Given the description of an element on the screen output the (x, y) to click on. 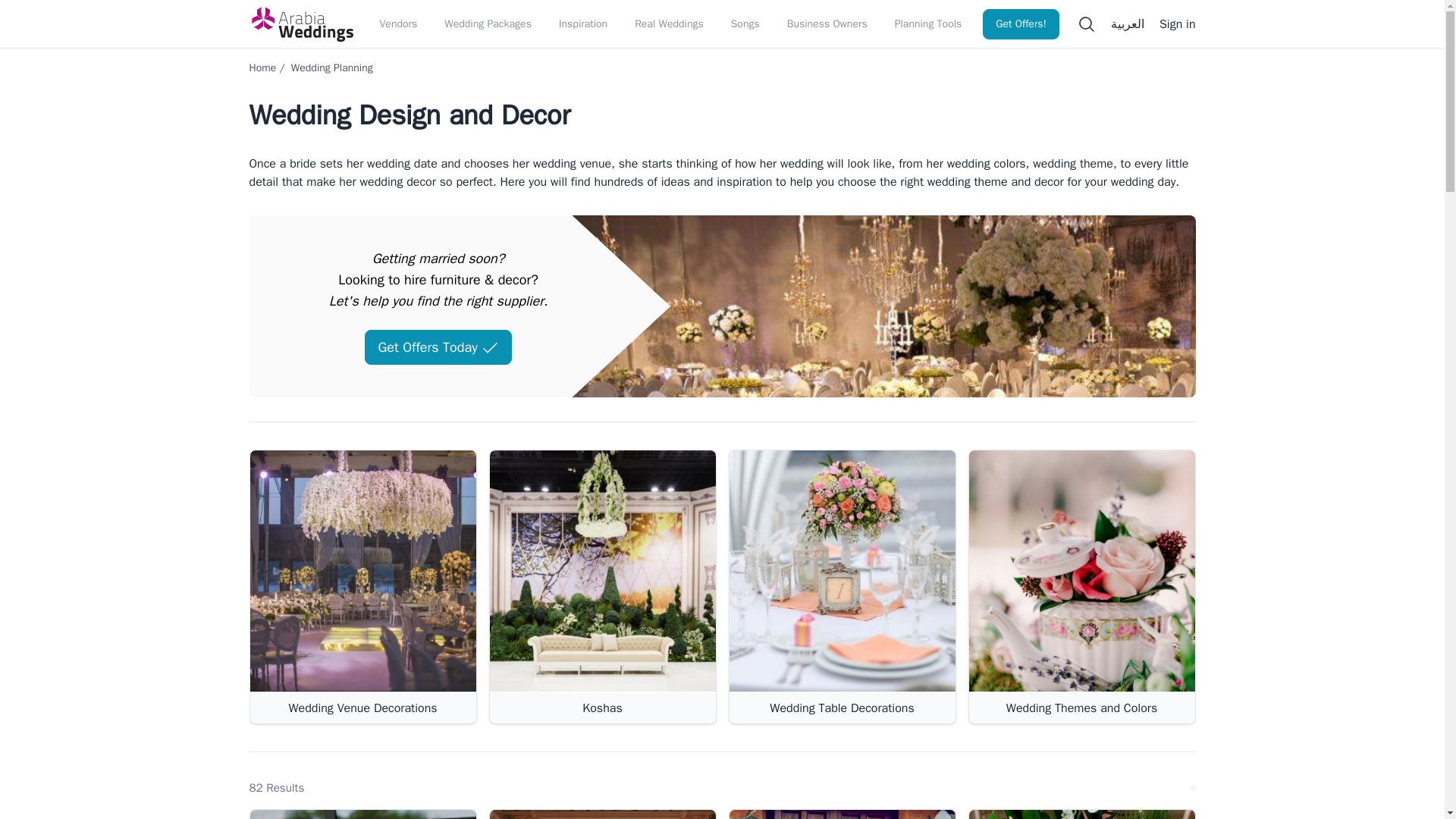
Business Owners (826, 24)
Welcoming Hearts: Creative Wedding Sign Inspirations (363, 814)
Ideas for a Fiesta Worthy Spanish Wedding Theme (842, 814)
Inspiration (582, 24)
Vendors (397, 24)
Get Offers! (1020, 24)
Wedding Planning (331, 67)
Ideas for an Exotic Jungle Wedding Theme (1081, 814)
Wedding Themes and Colors (1082, 571)
